Given the description of an element on the screen output the (x, y) to click on. 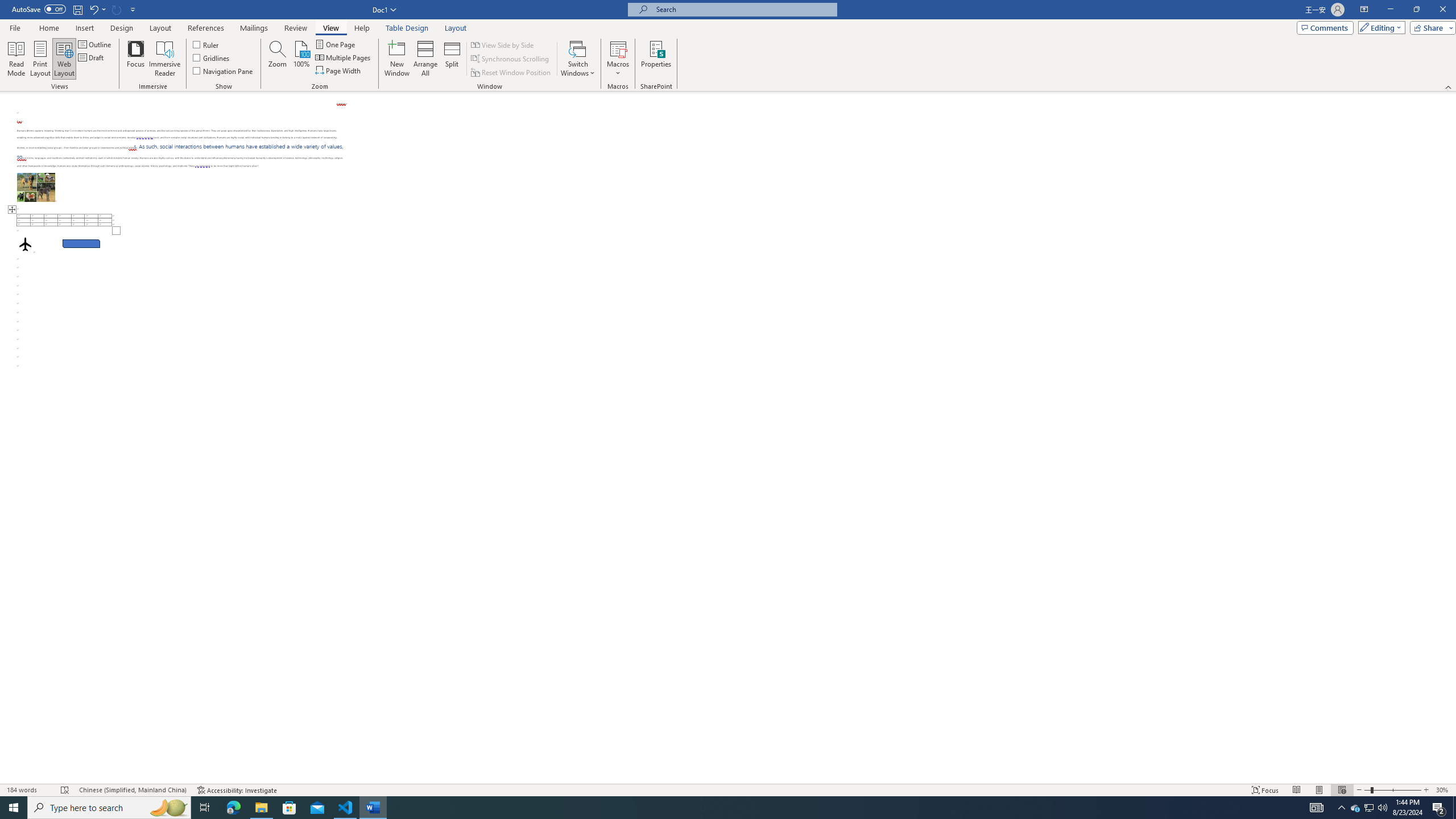
Macros (617, 58)
Synchronous Scrolling (510, 58)
Navigation Pane (223, 69)
Focus (135, 58)
View Side by Side (502, 44)
Page Width (338, 69)
Gridlines (211, 56)
One Page (335, 44)
Arrange All (425, 58)
